Given the description of an element on the screen output the (x, y) to click on. 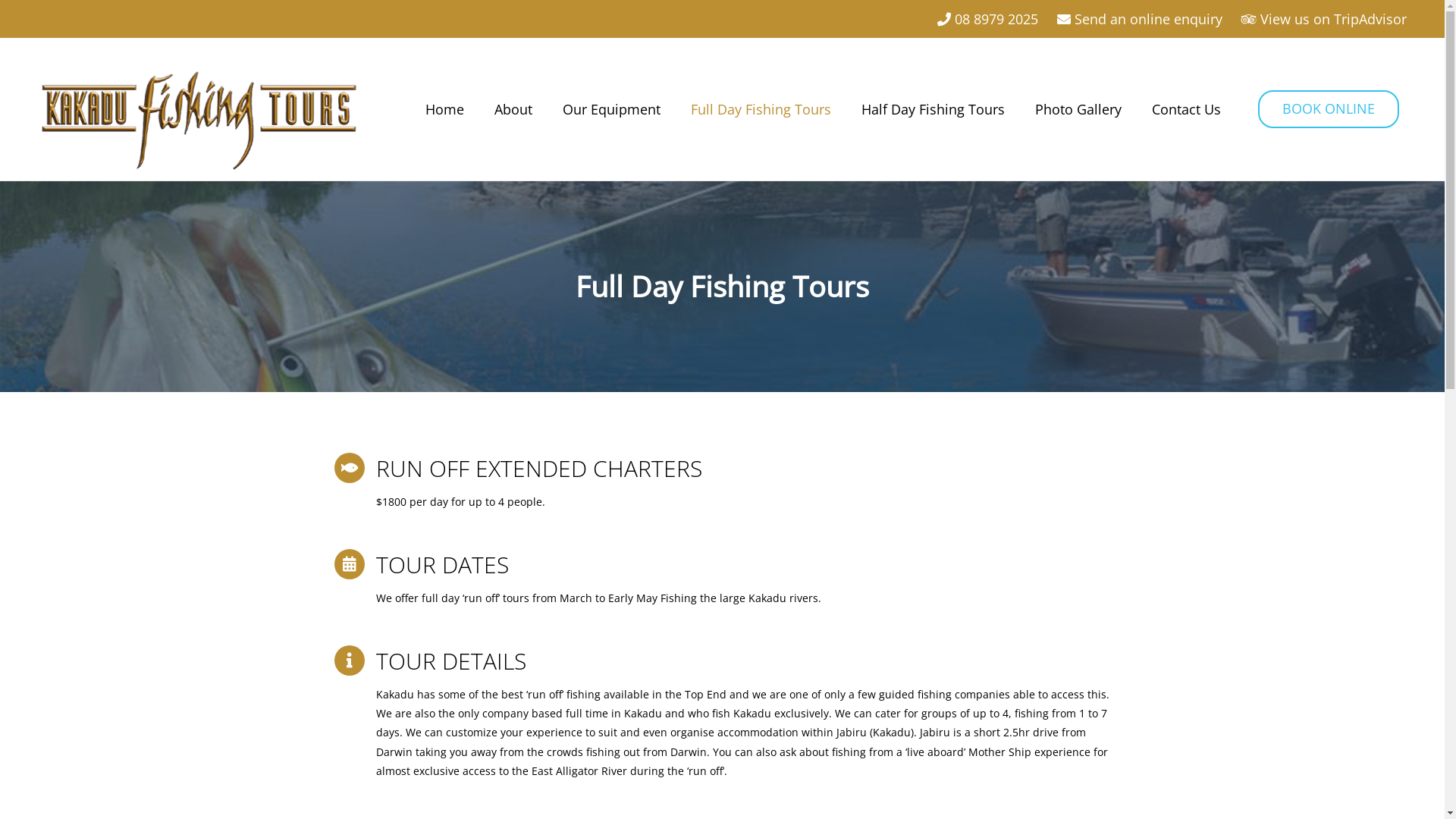
Photo Gallery Element type: text (1077, 109)
Half Day Fishing Tours Element type: text (932, 109)
RUN OFF EXTENDED CHARTERS Element type: text (539, 467)
TOUR DATES Element type: text (442, 564)
Home Element type: text (444, 109)
BOOK ONLINE Element type: text (1328, 108)
View us on TripAdvisor Element type: text (1323, 18)
Full Day Fishing Tours Element type: text (760, 109)
About Element type: text (513, 109)
Our Equipment Element type: text (611, 109)
08 8979 2025 Element type: text (987, 18)
TOUR DETAILS Element type: text (451, 660)
Contact Us Element type: text (1186, 109)
Send an online enquiry Element type: text (1139, 18)
